Given the description of an element on the screen output the (x, y) to click on. 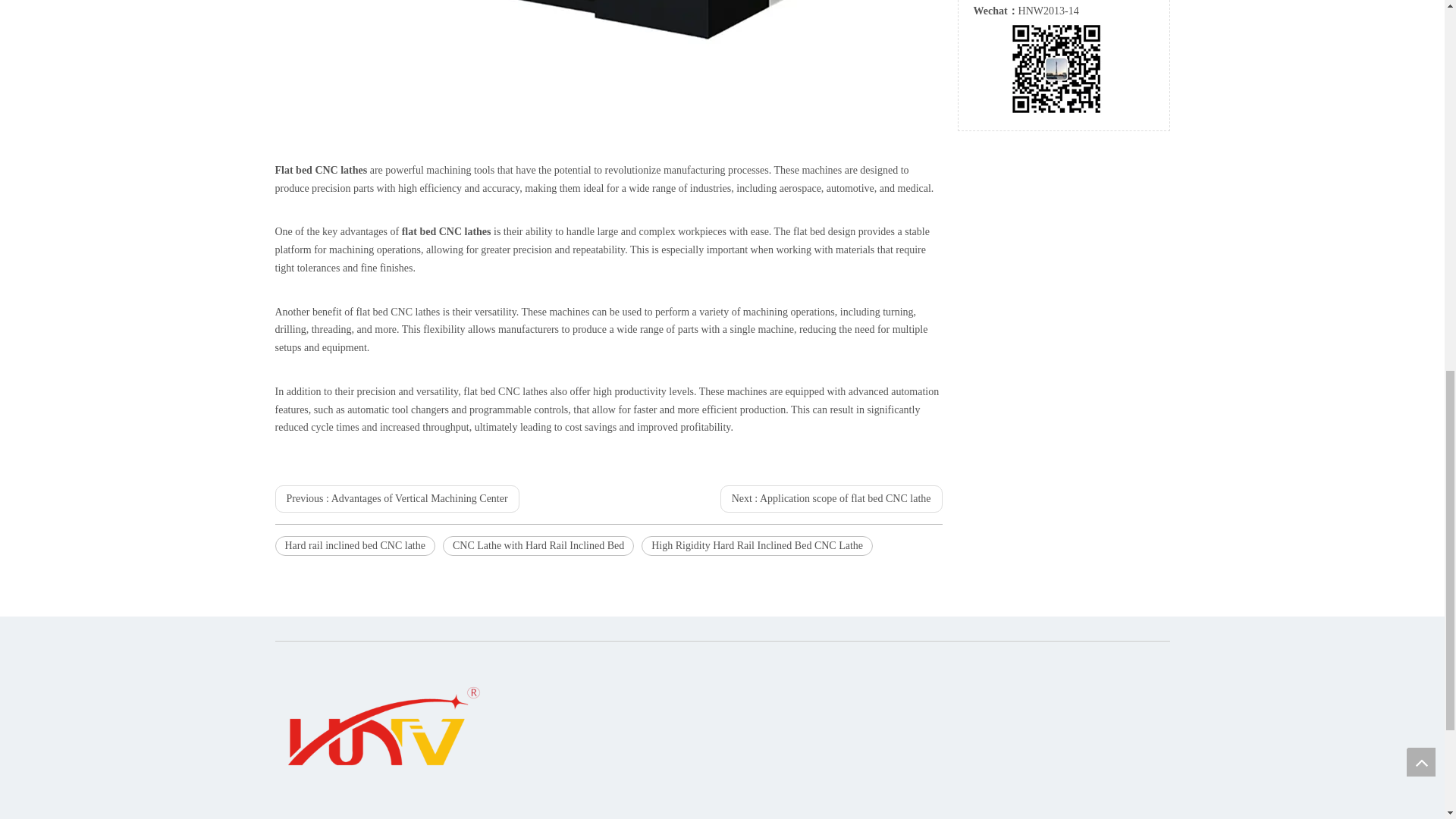
wechat (1055, 68)
High Rigidity Hard Rail Inclined Bed CNC Lathe (757, 546)
CNC Lathe with Hard Rail Inclined Bed (537, 546)
Hard rail inclined bed CNC lathe (354, 546)
